Given the description of an element on the screen output the (x, y) to click on. 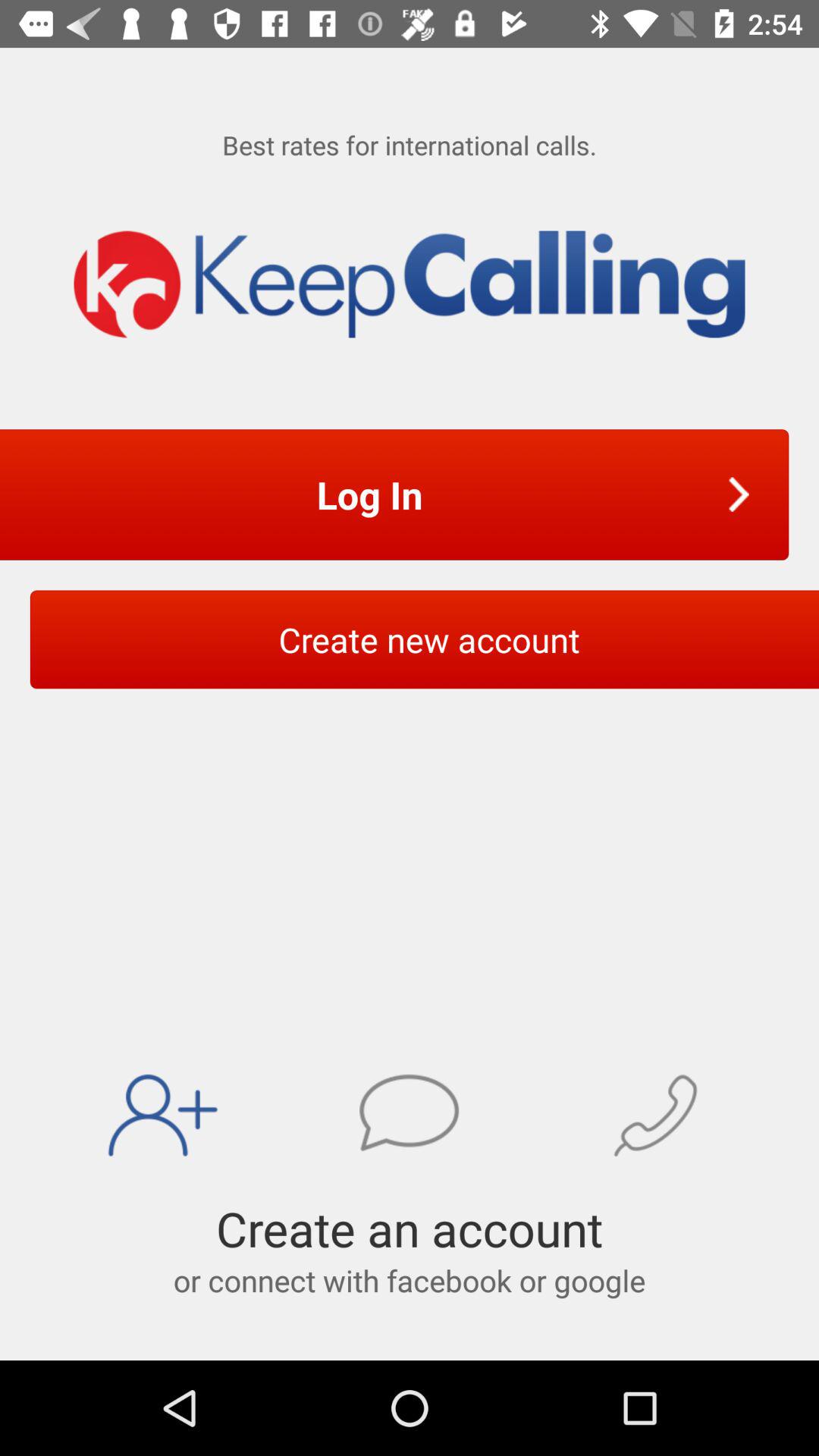
click the log in item (374, 494)
